Given the description of an element on the screen output the (x, y) to click on. 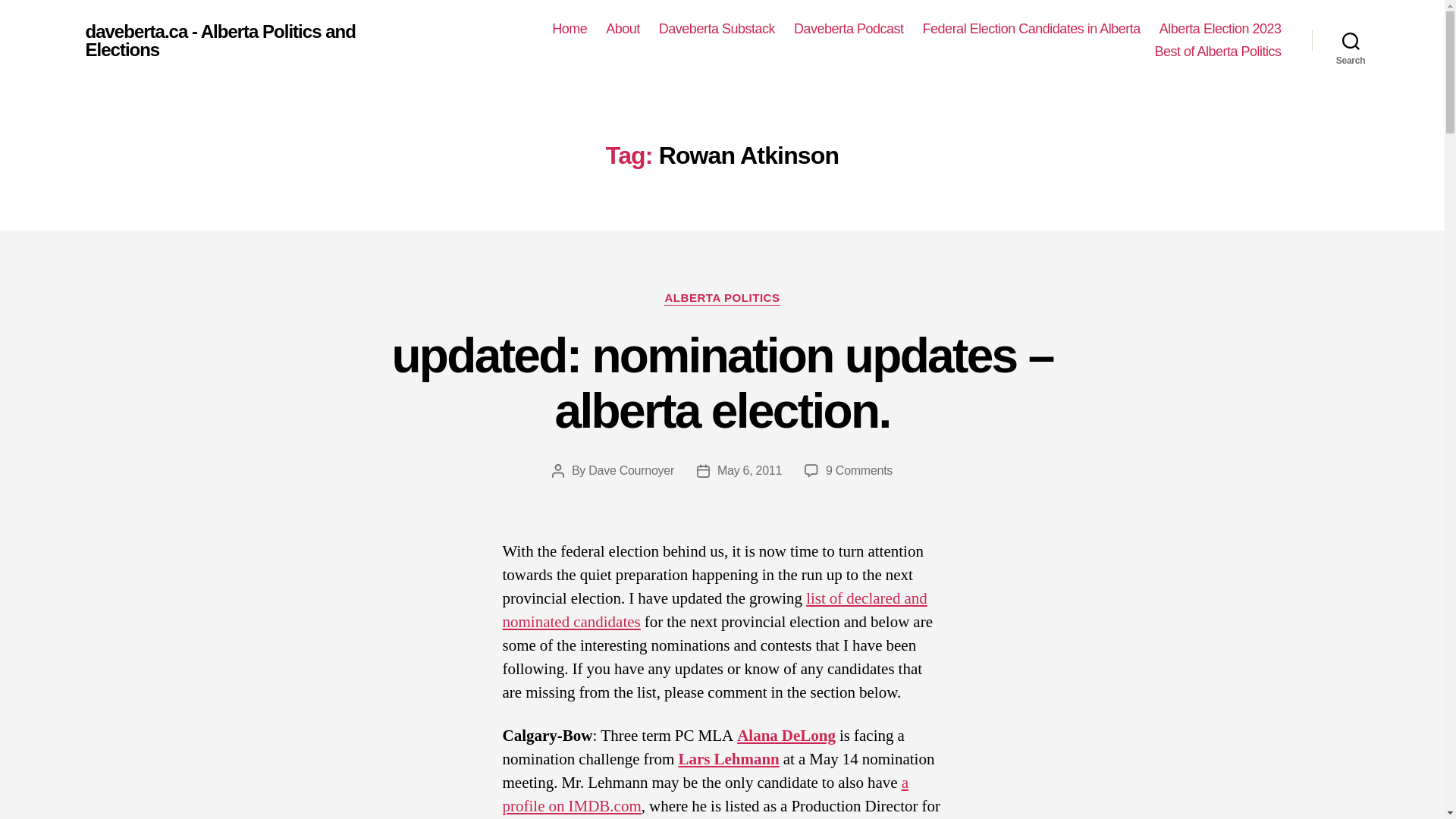
May 6, 2011 (749, 470)
a profile on IMDB.com (705, 794)
list of declared and nominated candidates (714, 610)
Daveberta Podcast (848, 29)
ALBERTA POLITICS (720, 298)
Alberta Election 2023 (1219, 29)
Dave Cournoyer (631, 470)
Federal Election Candidates in Alberta (1031, 29)
Lars Lehmann (728, 759)
Search (1350, 40)
Best of Alberta Politics (1217, 52)
Daveberta Substack (716, 29)
About (622, 29)
Home (568, 29)
Alana DeLong (785, 735)
